Given the description of an element on the screen output the (x, y) to click on. 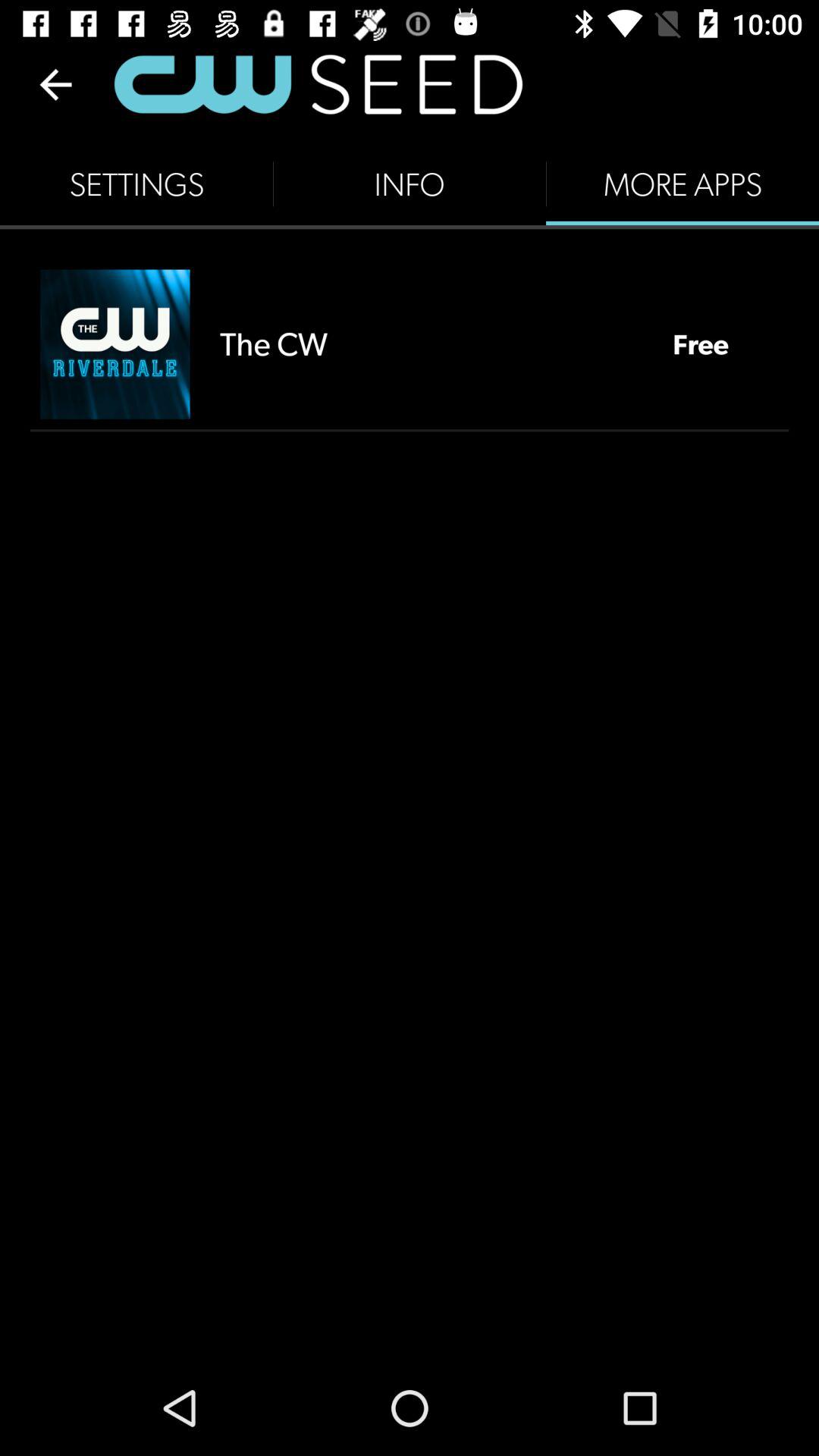
tap the item next to the the cw (700, 343)
